Given the description of an element on the screen output the (x, y) to click on. 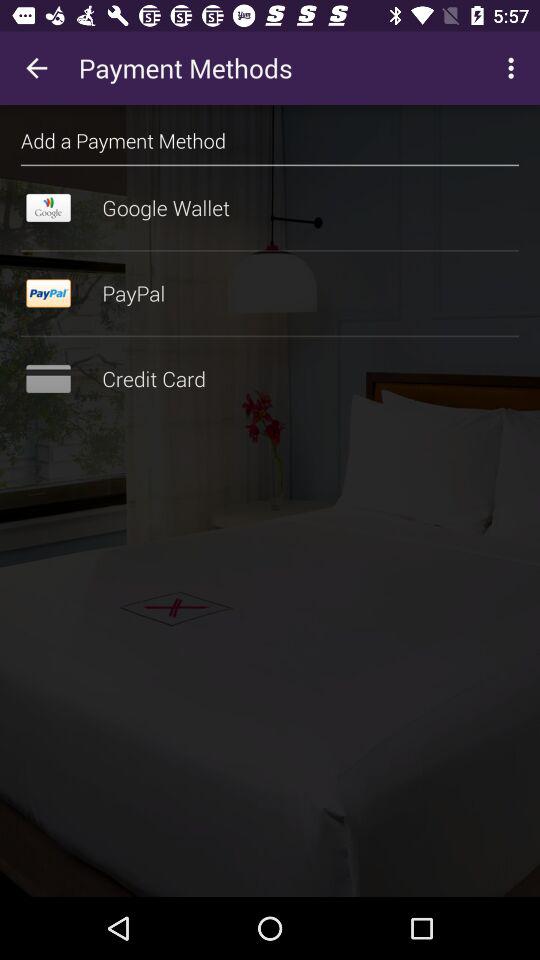
jump until google wallet item (270, 208)
